Given the description of an element on the screen output the (x, y) to click on. 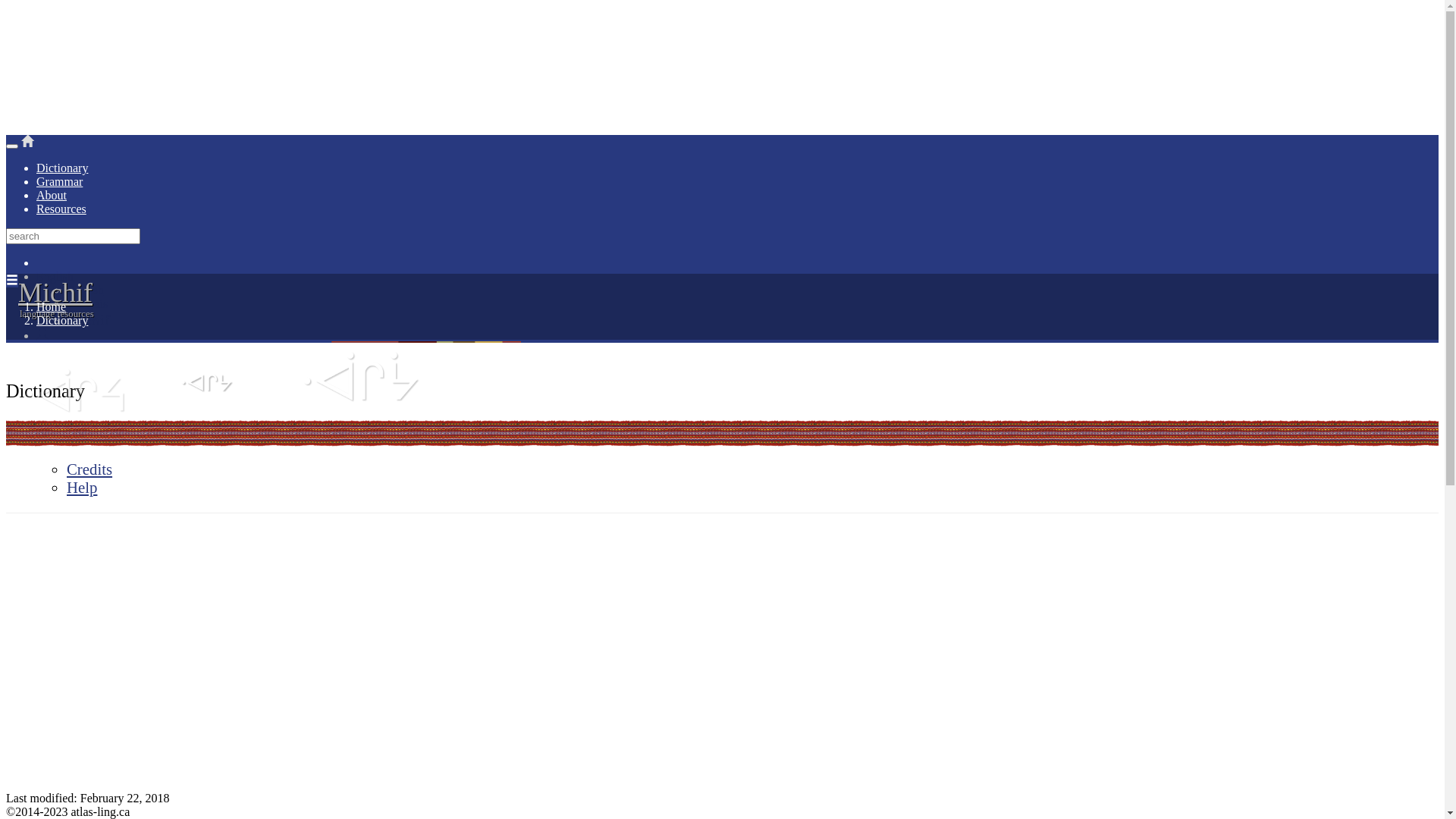
English Element type: text (84, 289)
0 Element type: text (737, 335)
Help Element type: text (81, 486)
Michif Element type: text (55, 292)
Dictionary Element type: text (61, 167)
Michif Element type: text (87, 319)
Credits Element type: text (89, 468)
Dictionary Element type: text (61, 319)
Grammar Element type: text (59, 181)
Resources Element type: text (61, 208)
Home Element type: text (50, 306)
About Element type: text (51, 194)
English Element type: text (54, 275)
